Given the description of an element on the screen output the (x, y) to click on. 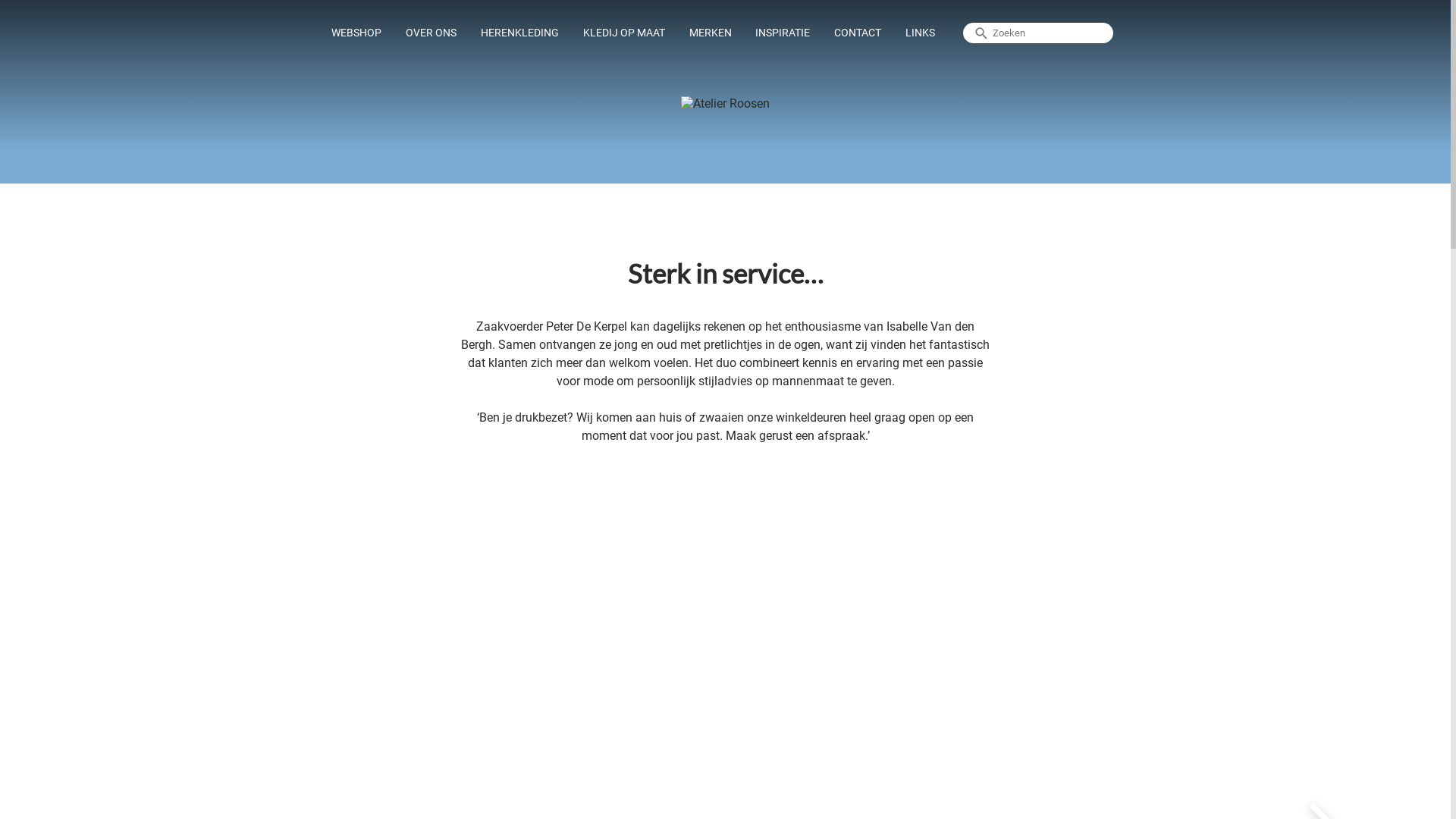
KLEDIJ OP MAAT Element type: text (623, 32)
WEBSHOP Element type: text (356, 32)
INSPIRATIE Element type: text (783, 32)
HERENKLEDING Element type: text (519, 32)
OVER ONS Element type: text (430, 32)
Atelier Roosen Element type: hover (724, 103)
CONTACT Element type: text (857, 32)
MERKEN Element type: text (710, 32)
LINKS Element type: text (919, 32)
